Given the description of an element on the screen output the (x, y) to click on. 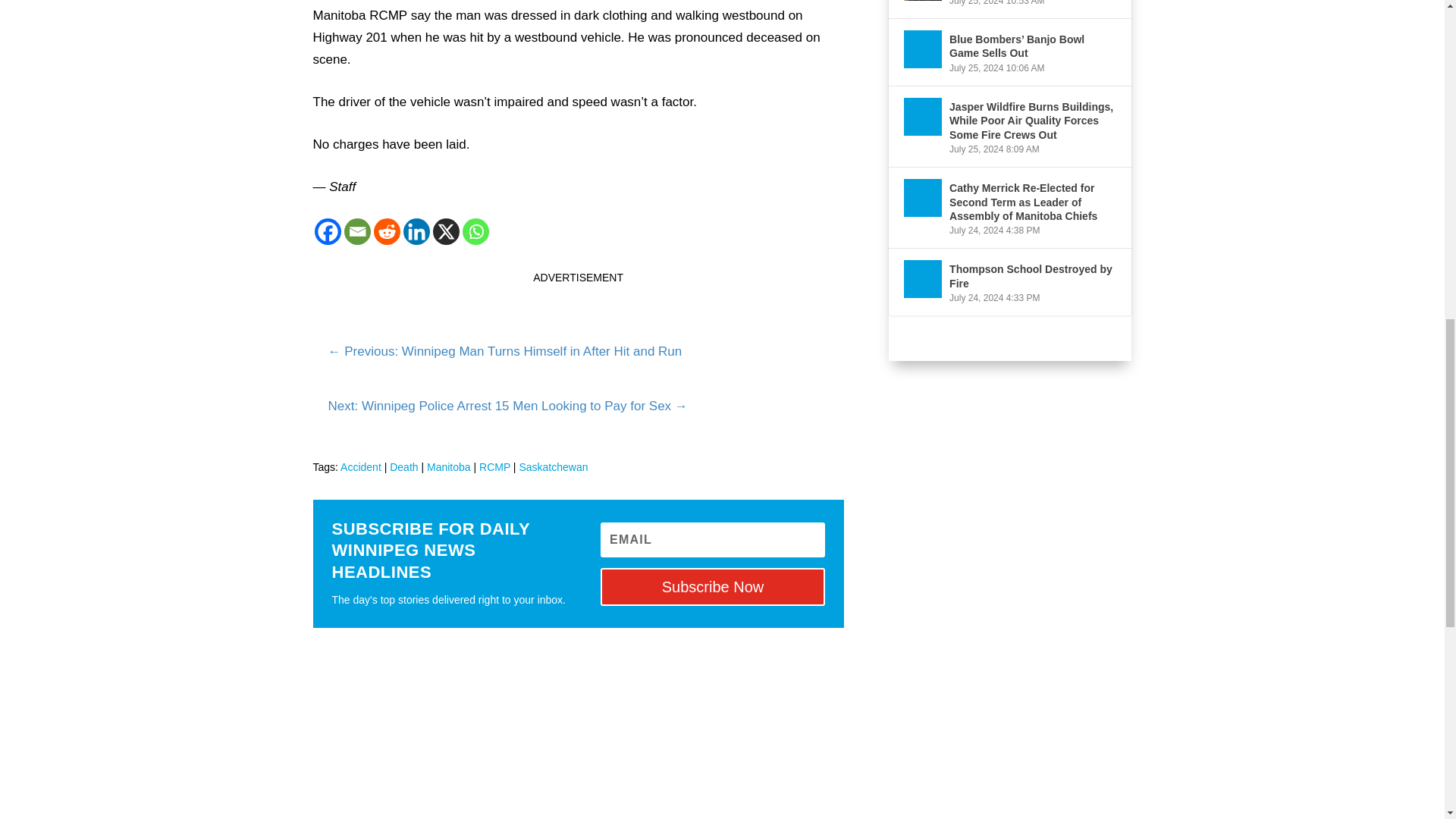
Facebook (327, 231)
Whatsapp (476, 231)
X (445, 231)
Email (357, 231)
Thompson School Destroyed by Fire (923, 279)
Linkedin (416, 231)
Reddit (385, 231)
